Given the description of an element on the screen output the (x, y) to click on. 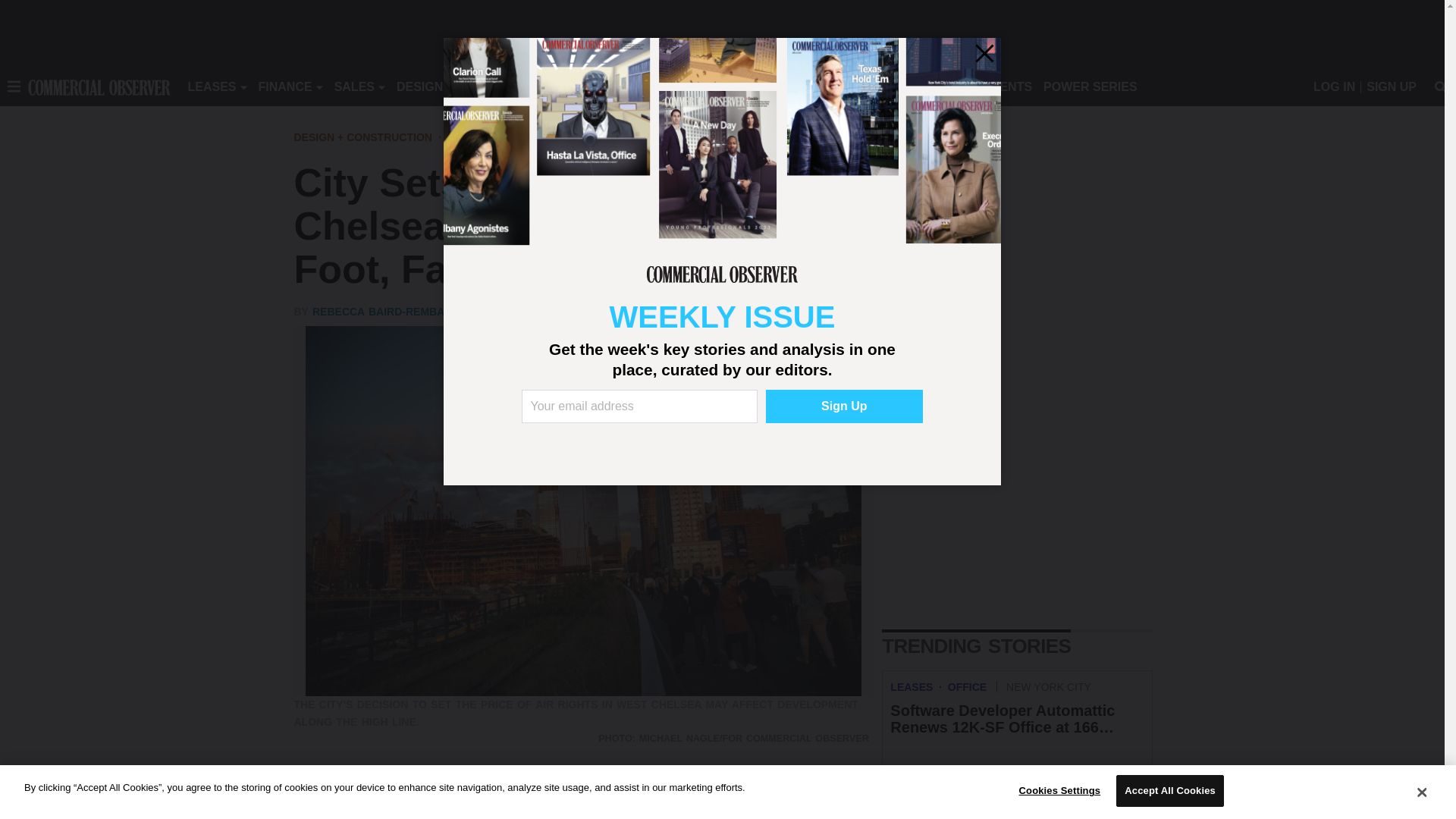
Tweet (338, 789)
LEASES (211, 86)
Posts by Rebecca Baird-Remba (378, 311)
Commercial Observer Home (98, 86)
Send email (398, 789)
Share on LinkedIn (368, 789)
FINANCE (286, 86)
MORE (691, 86)
Share on Facebook (307, 789)
TECHNOLOGY (619, 86)
SALES (354, 86)
